Given the description of an element on the screen output the (x, y) to click on. 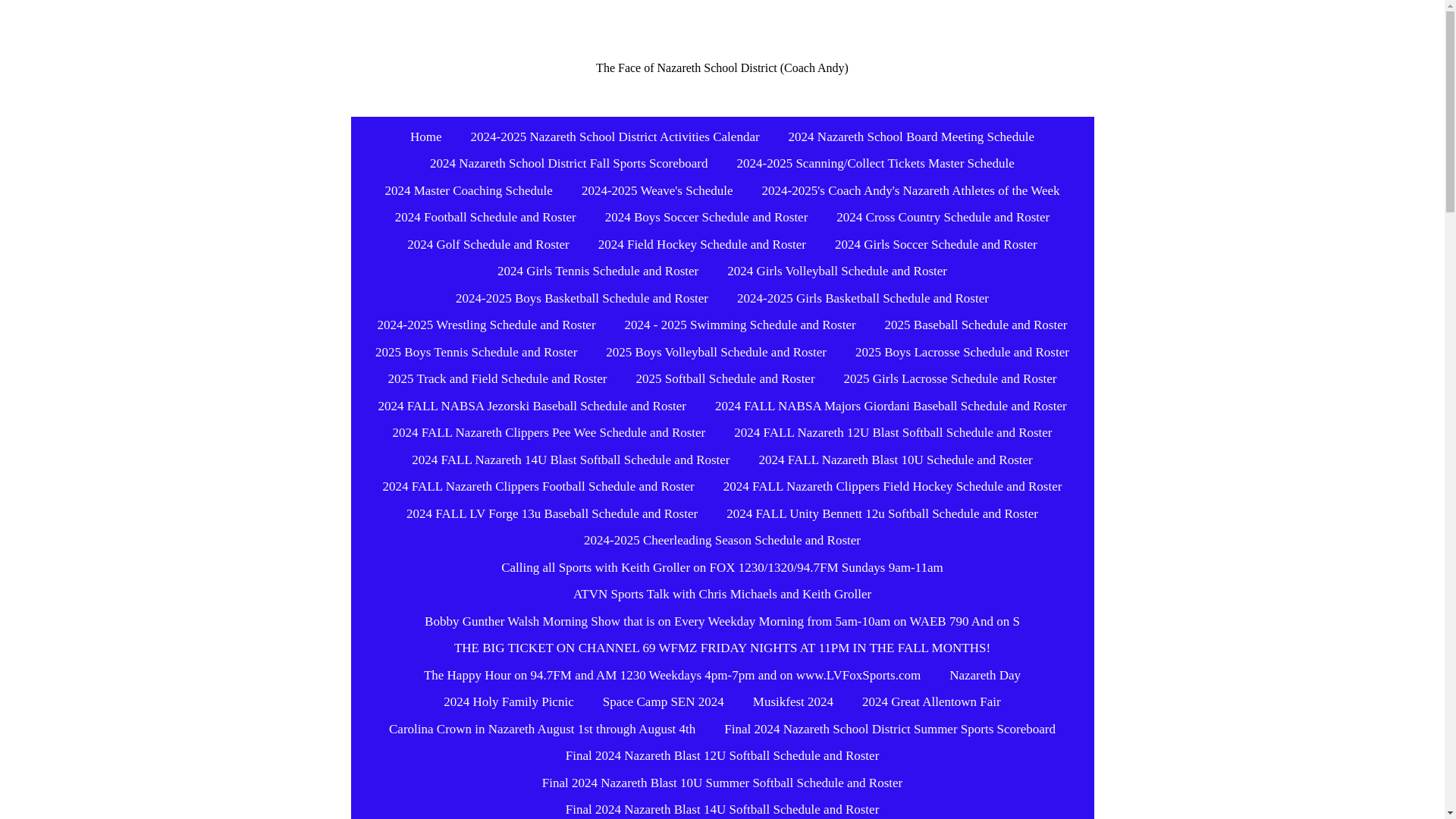
2024 Nazareth School District Fall Sports Scoreboard (568, 163)
2024-2025's Coach Andy's Nazareth Athletes of the Week (910, 190)
2024 Girls Soccer Schedule and Roster (936, 243)
2024-2025 Weave's Schedule (657, 190)
2024 FALL NABSA Jezorski Baseball Schedule and Roster (531, 406)
2024 FALL Nazareth Clippers Pee Wee Schedule and Roster (548, 432)
2024 Nazareth School Board Meeting Schedule (911, 135)
2024 FALL Nazareth Clippers Field Hockey Schedule and Roster (893, 486)
2024 Cross Country Schedule and Roster (942, 216)
2024 FALL Nazareth 14U Blast Softball Schedule and Roster (570, 459)
2024 Boys Soccer Schedule and Roster (706, 216)
2024-2025 Boys Basketball Schedule and Roster (582, 298)
2024 FALL Nazareth 12U Blast Softball Schedule and Roster (892, 432)
2024-2025 Wrestling Schedule and Roster (486, 325)
2024 Football Schedule and Roster (485, 216)
